Given the description of an element on the screen output the (x, y) to click on. 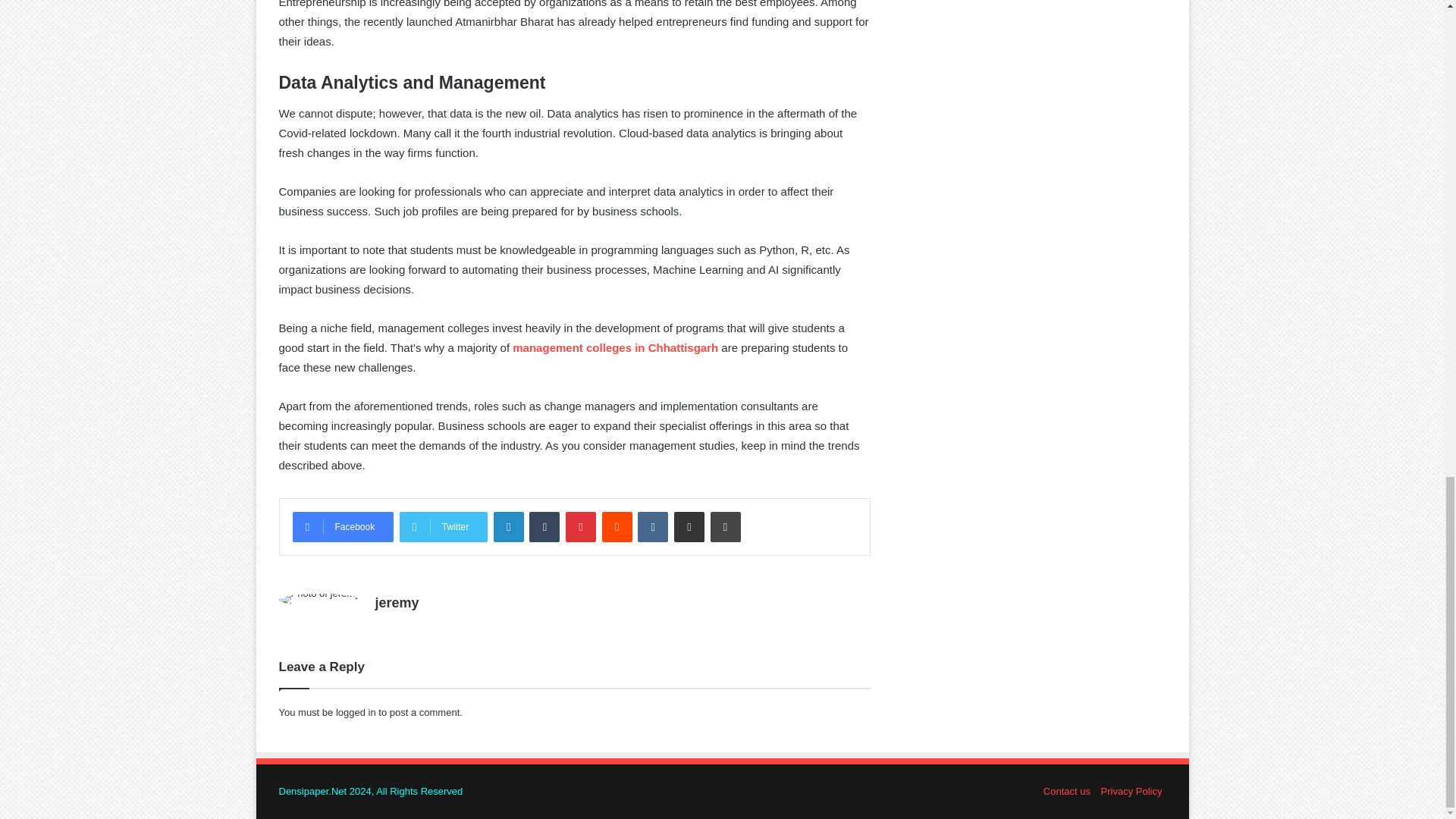
management colleges in Chhattisgarh (614, 347)
Reddit (616, 526)
Twitter (442, 526)
Pinterest (580, 526)
Reddit (616, 526)
Facebook (343, 526)
LinkedIn (508, 526)
Print (725, 526)
Pinterest (580, 526)
jeremy (397, 602)
Privacy Policy (1130, 790)
logged in (355, 712)
Share via Email (689, 526)
LinkedIn (508, 526)
Tumblr (544, 526)
